Given the description of an element on the screen output the (x, y) to click on. 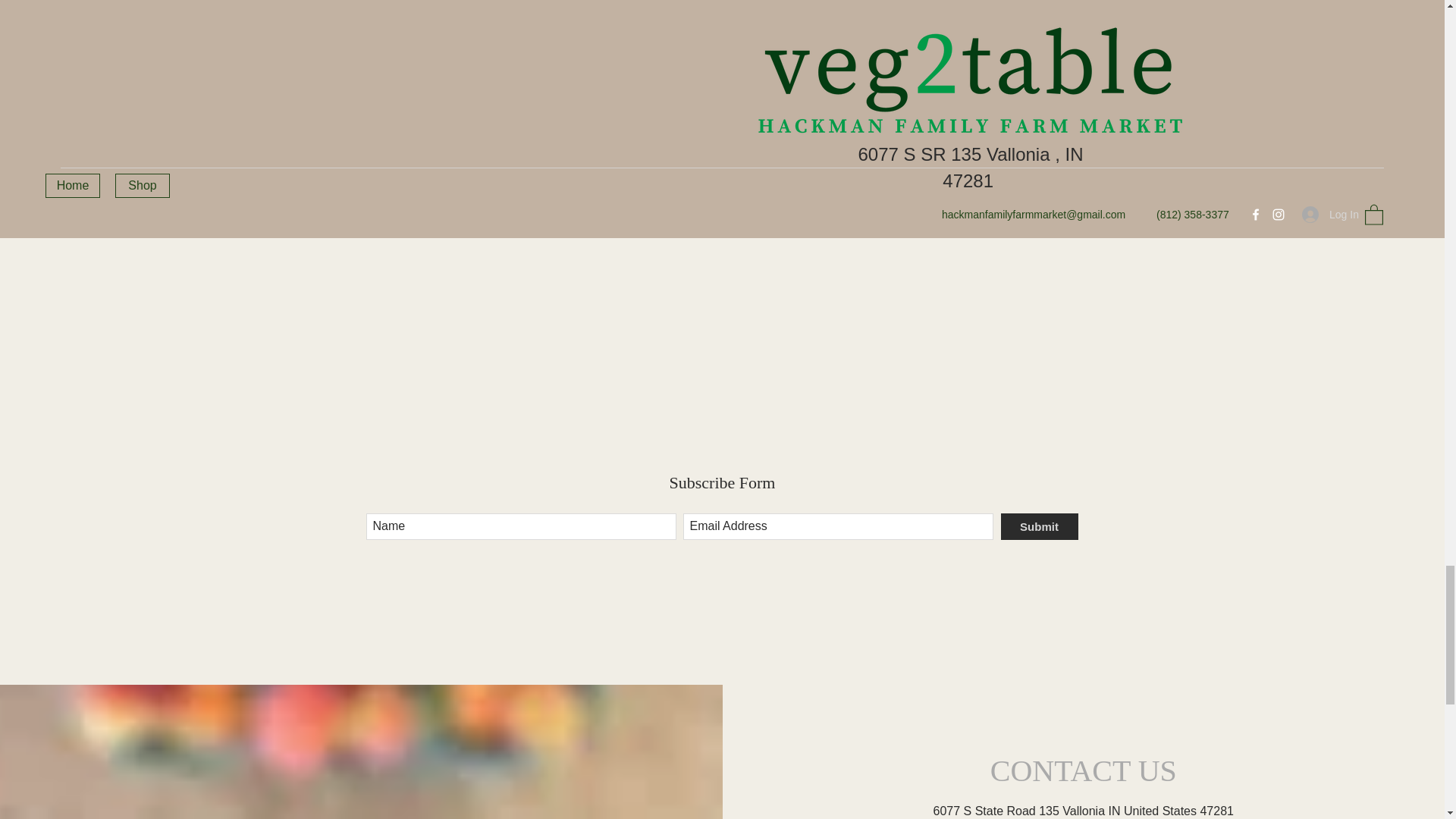
Submit (1039, 526)
